Given the description of an element on the screen output the (x, y) to click on. 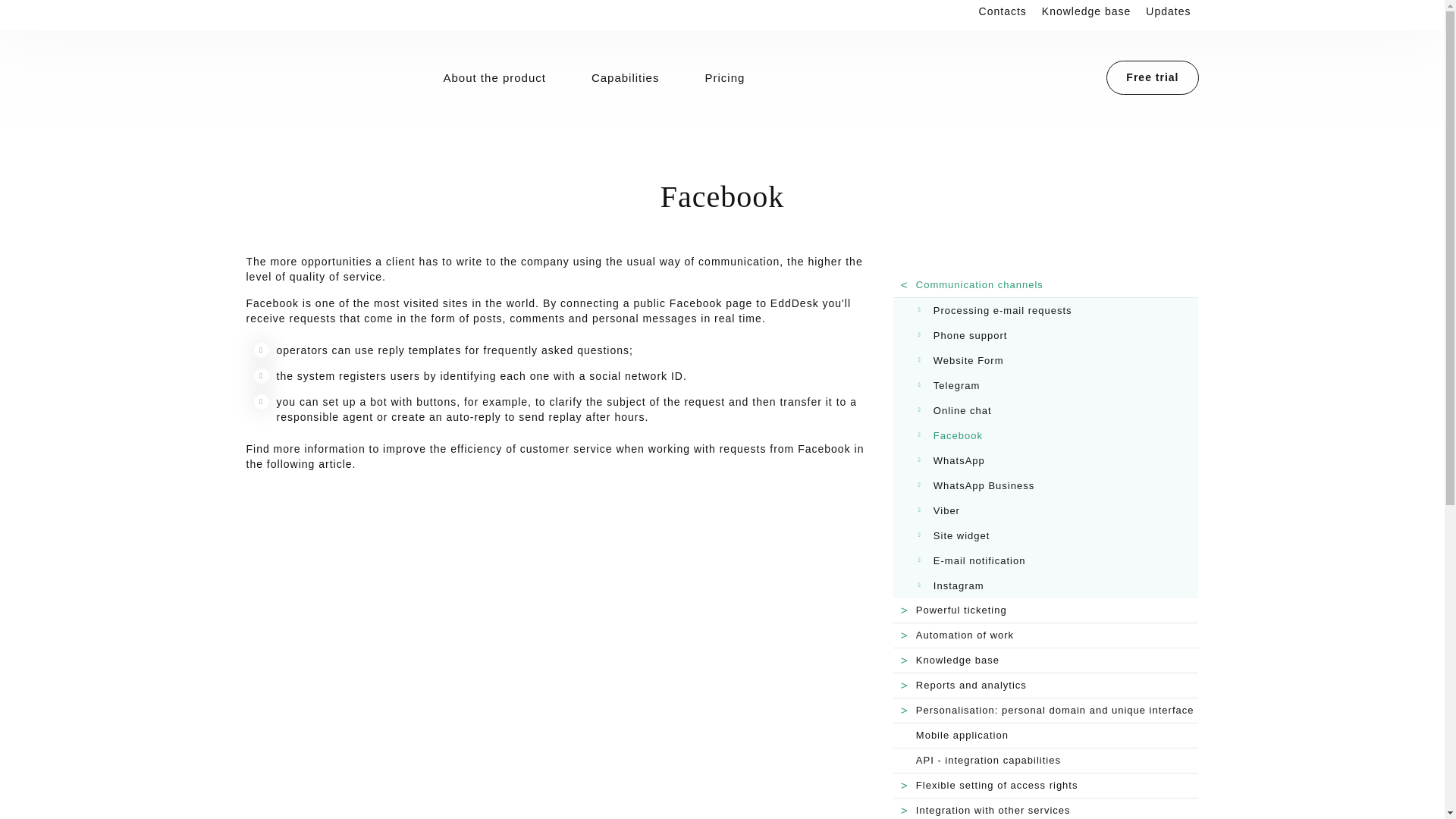
Capabilities (625, 77)
Telegram (1058, 385)
Updates (1167, 11)
Contacts (1002, 11)
Knowledge base (1086, 11)
About the product (494, 77)
Pricing (724, 77)
WhatsApp Business (1058, 485)
Online chat (1058, 410)
Phone support (1058, 335)
Facebook (1058, 435)
Processing e-mail requests (1058, 310)
Free trial (1152, 77)
Website Form (1058, 360)
HelpDeskEddy (323, 75)
